Given the description of an element on the screen output the (x, y) to click on. 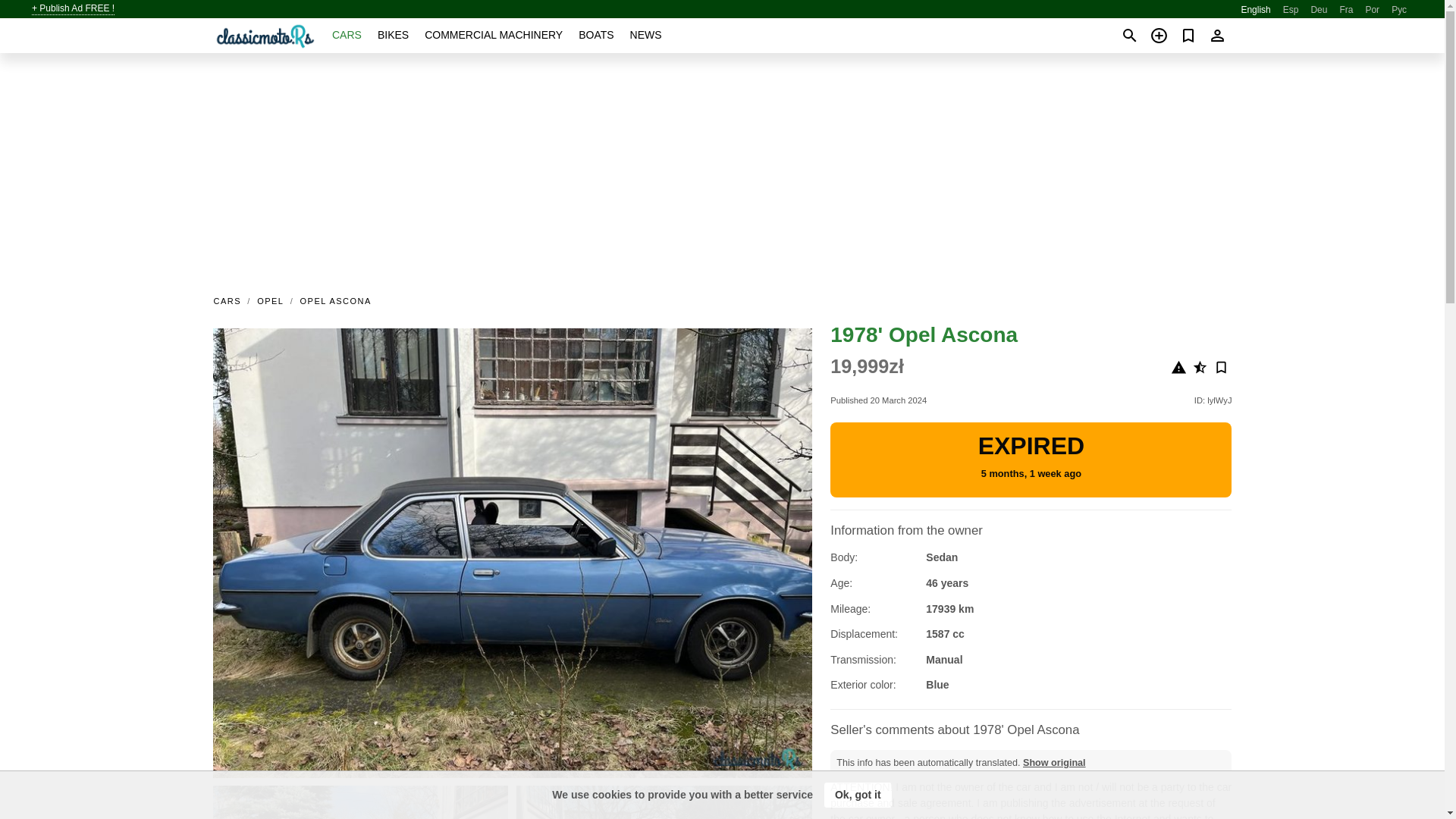
COMMERCIAL MACHINERY (493, 35)
Por (1371, 9)
OPEL (269, 300)
Esp (1290, 9)
CARS (346, 35)
CARS (230, 300)
NEWS (646, 35)
Deutsch (1318, 9)
OPEL ASCONA (335, 300)
BOATS (595, 35)
